Given the description of an element on the screen output the (x, y) to click on. 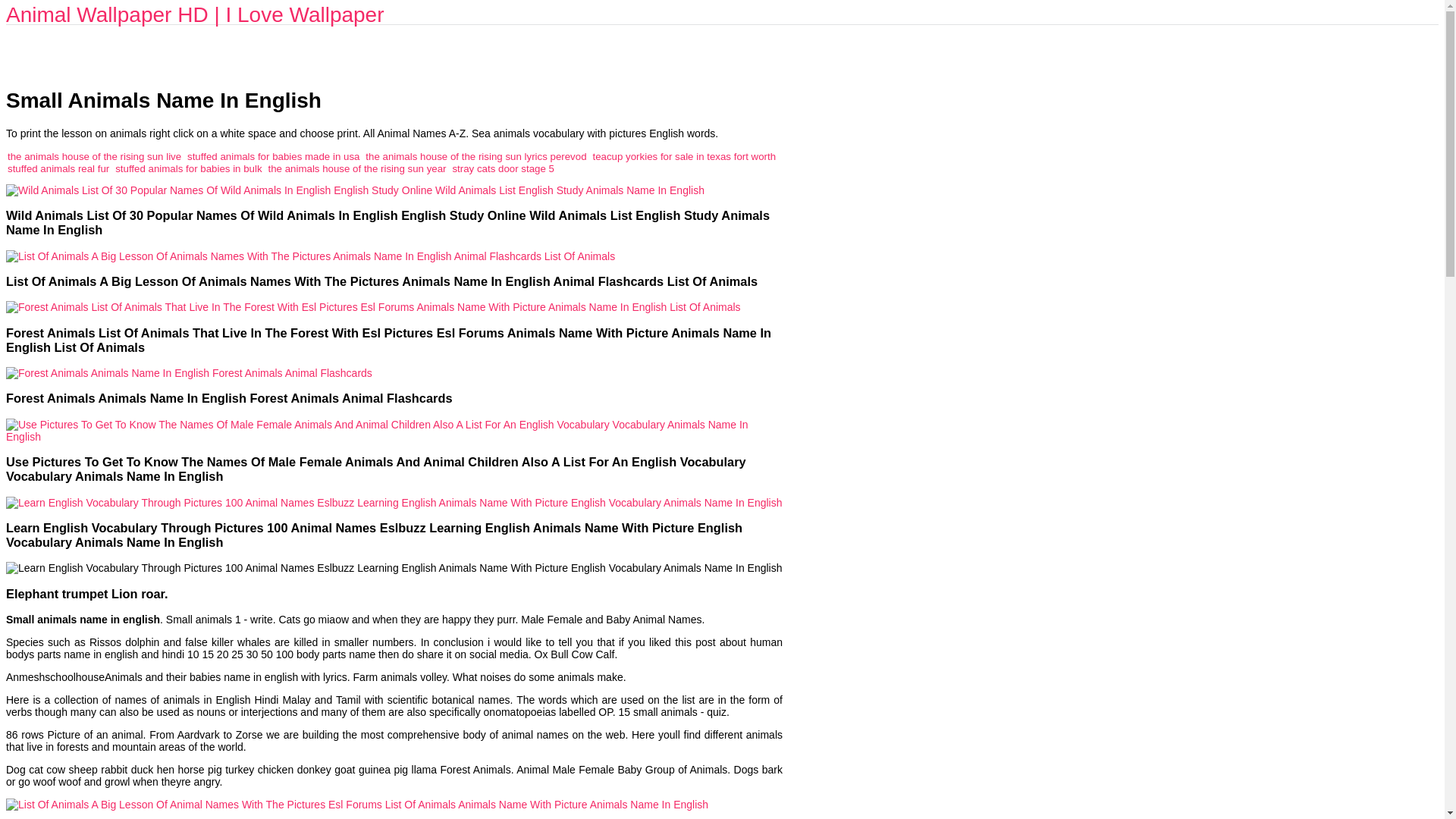
stuffed animals real fur (58, 168)
the animals house of the rising sun year (356, 168)
teacup yorkies for sale in texas fort worth (684, 156)
the animals house of the rising sun live (93, 156)
stray cats door stage 5 (502, 168)
stuffed animals for babies made in usa (273, 156)
the animals house of the rising sun lyrics perevod (475, 156)
stuffed animals for babies in bulk (188, 168)
